Given the description of an element on the screen output the (x, y) to click on. 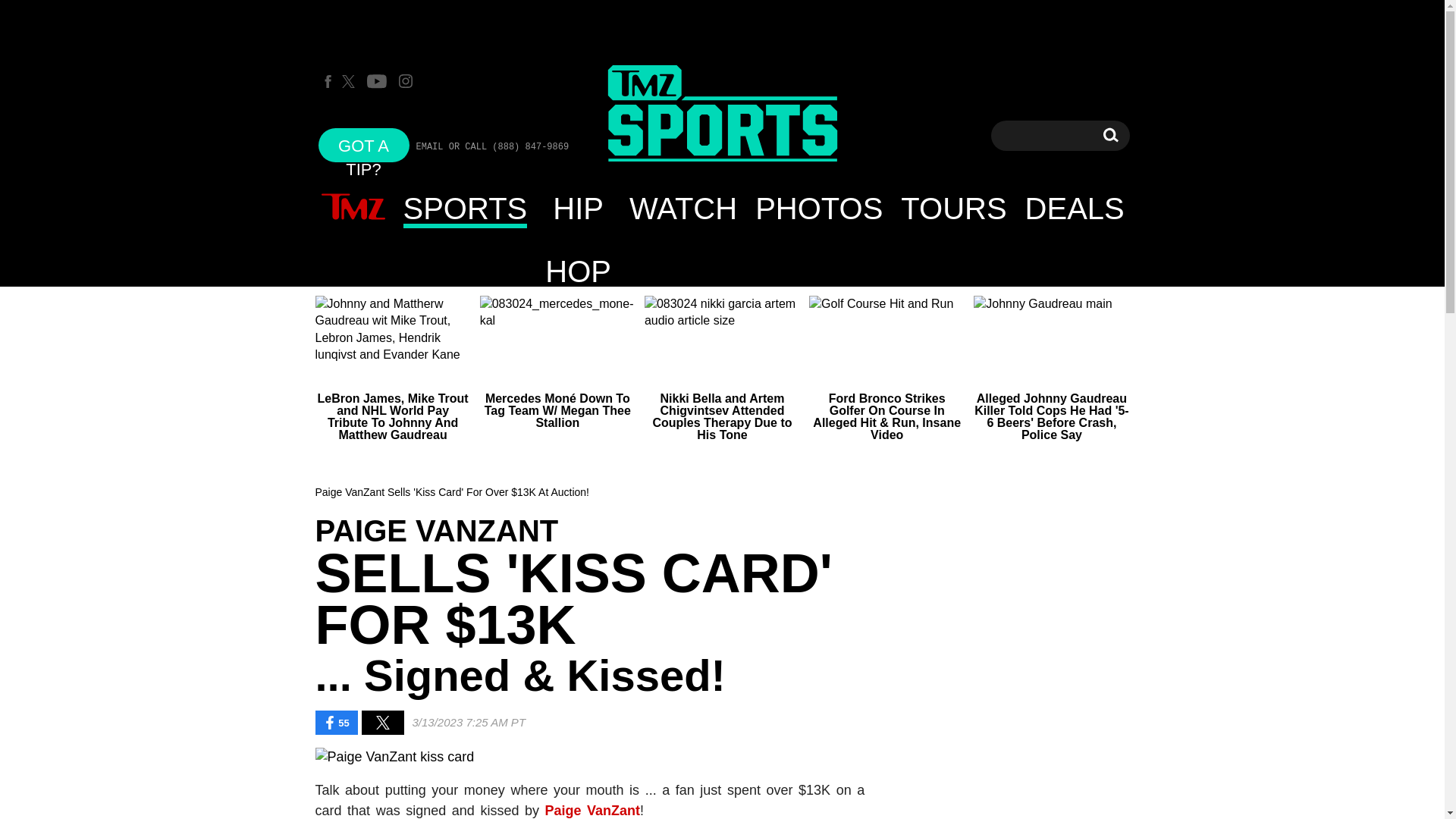
NEWS (353, 207)
WATCH (682, 207)
TMZ Sports (722, 115)
PHOTOS (818, 207)
SPORTS (465, 207)
TMZ Sports (722, 113)
GOT A TIP? (363, 144)
Search (1110, 134)
HIP HOP (577, 207)
